Given the description of an element on the screen output the (x, y) to click on. 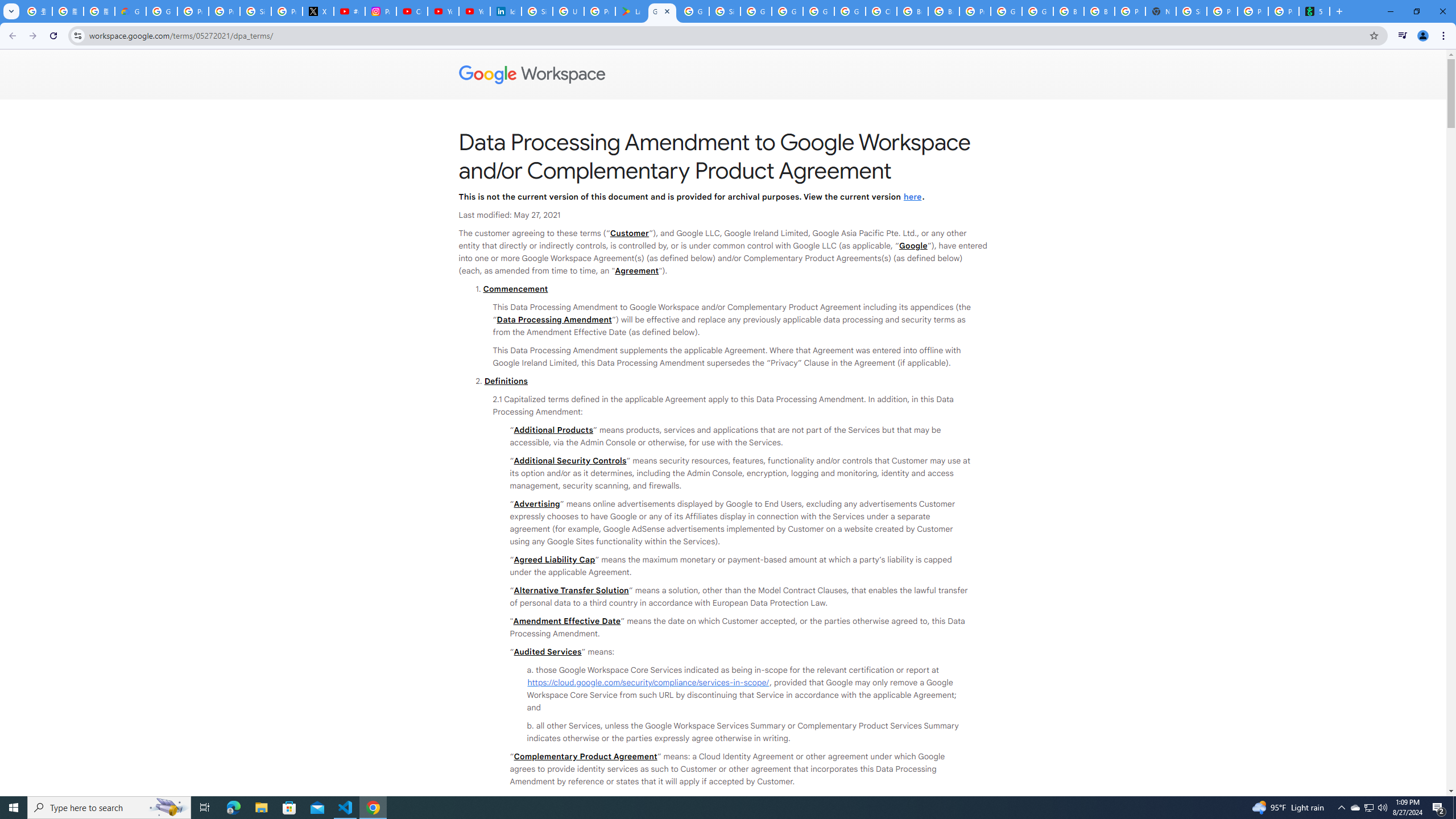
Sign in - Google Accounts (1190, 11)
Google Cloud Platform (1037, 11)
#nbabasketballhighlights - YouTube (349, 11)
here (912, 196)
